Given the description of an element on the screen output the (x, y) to click on. 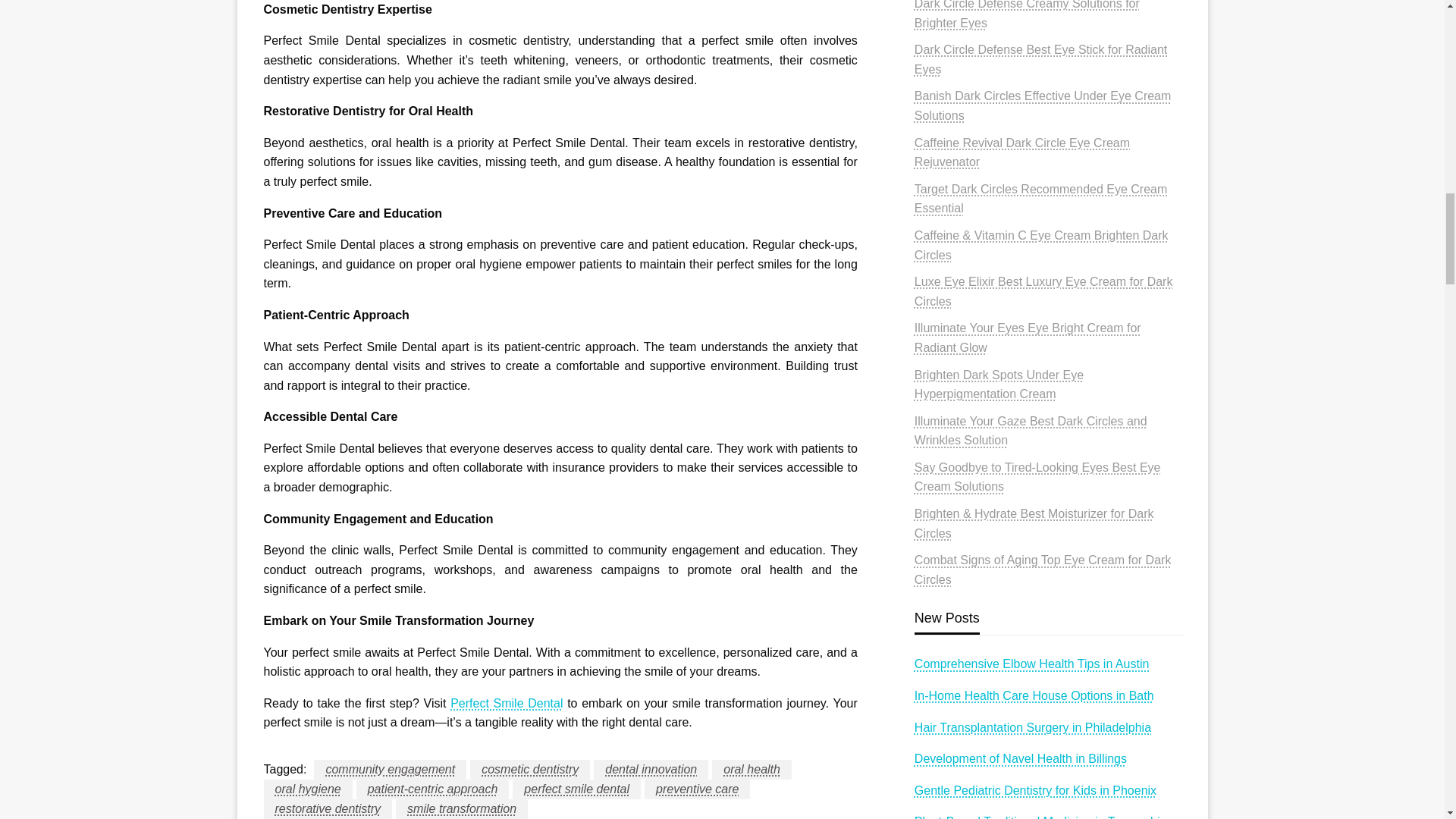
Perfect Smile Dental (505, 703)
oral hygiene (307, 789)
cosmetic dentistry (529, 769)
patient-centric approach (432, 789)
restorative dentistry (328, 809)
perfect smile dental (576, 789)
preventive care (697, 789)
smile transformation (461, 809)
oral health (751, 769)
community engagement (389, 769)
dental innovation (650, 769)
